Given the description of an element on the screen output the (x, y) to click on. 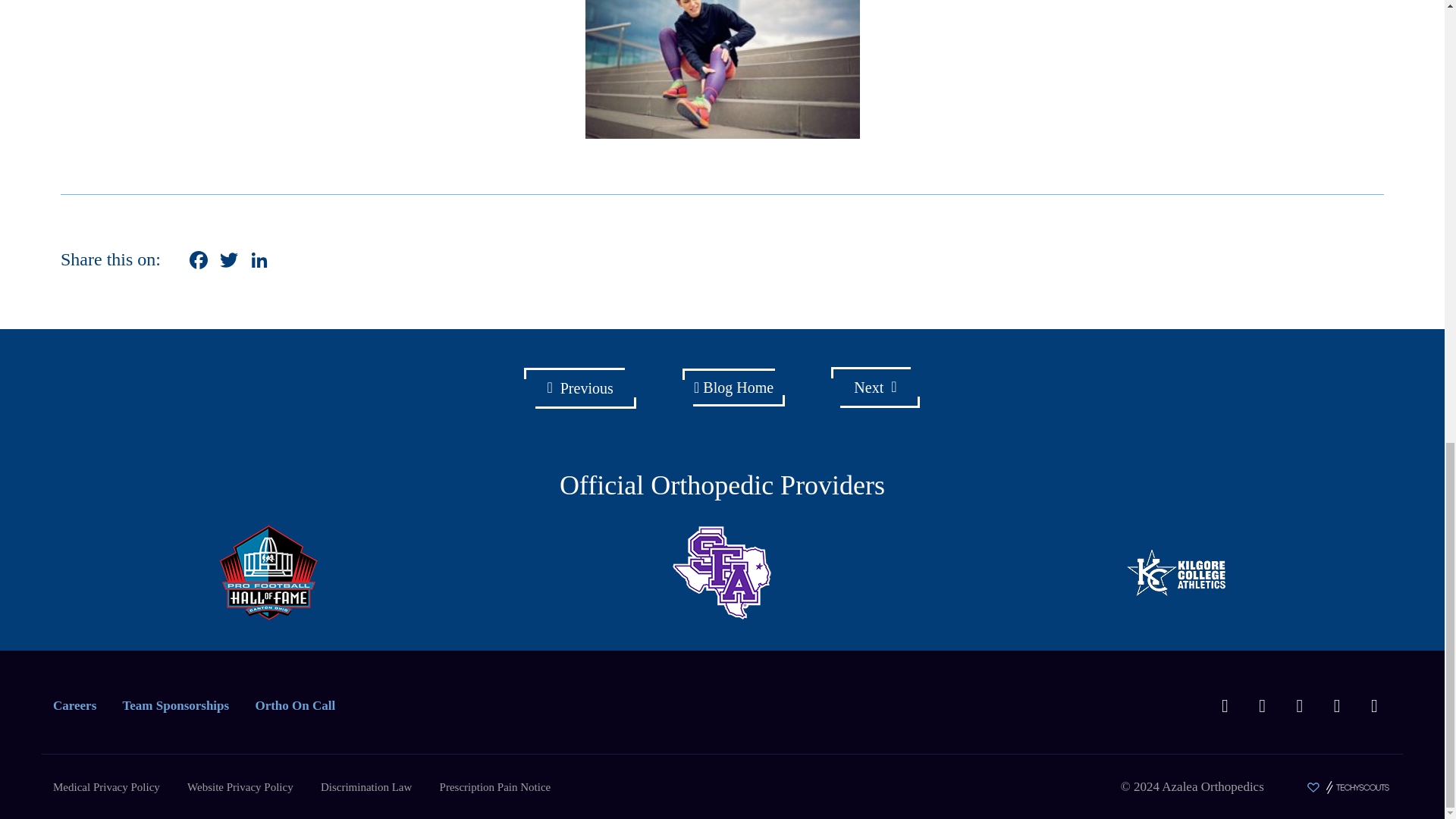
Facebook (198, 262)
LinkedIn (259, 262)
Made with love by TechyScouts (1347, 787)
Twitter (229, 262)
